Given the description of an element on the screen output the (x, y) to click on. 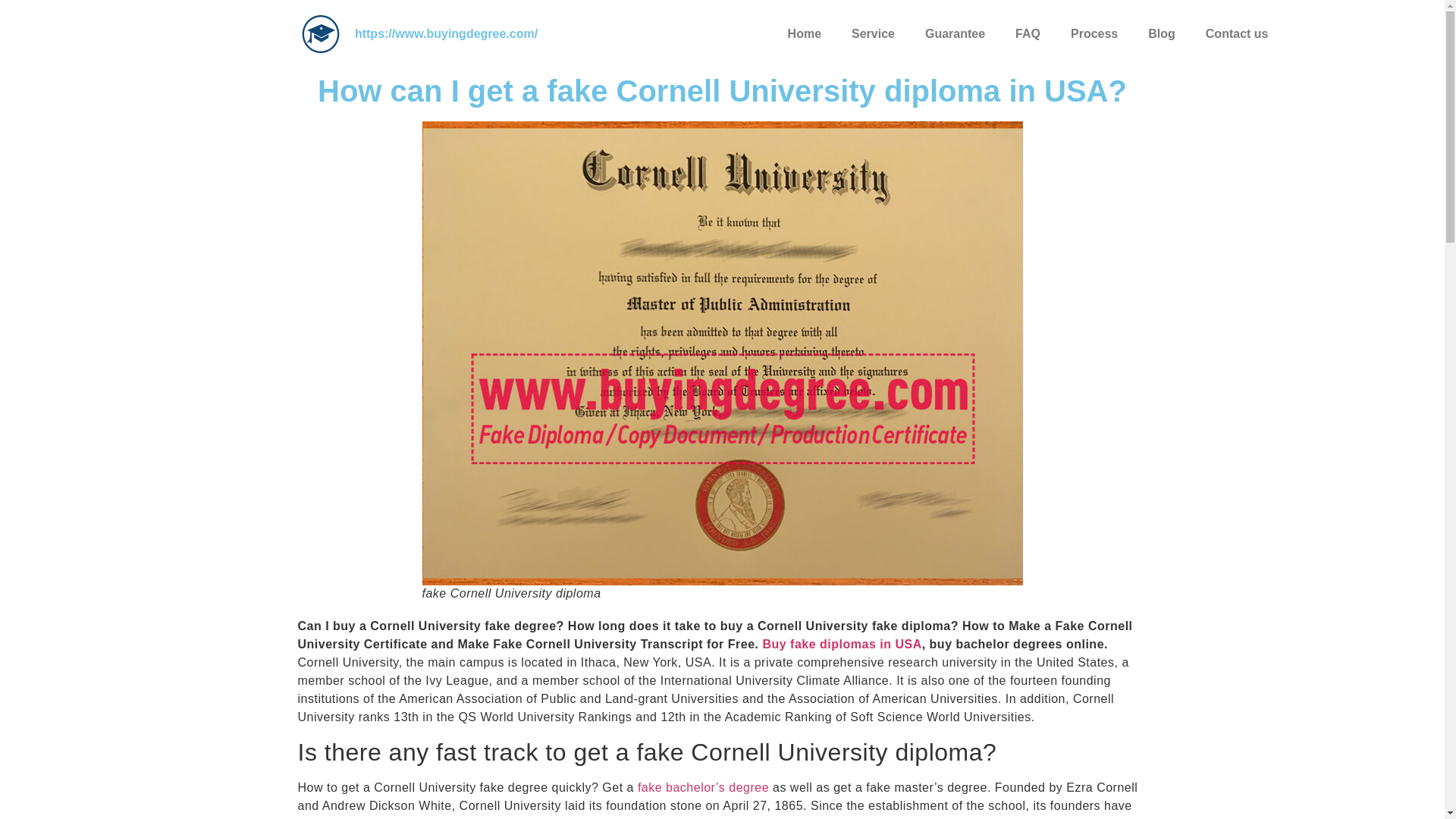
Home (804, 33)
Contact us (1237, 33)
Service (872, 33)
FAQ (1027, 33)
Blog (1161, 33)
buy fake diploma (320, 34)
Buy fake diplomas in USA (841, 644)
Process (1093, 33)
Guarantee (955, 33)
